Given the description of an element on the screen output the (x, y) to click on. 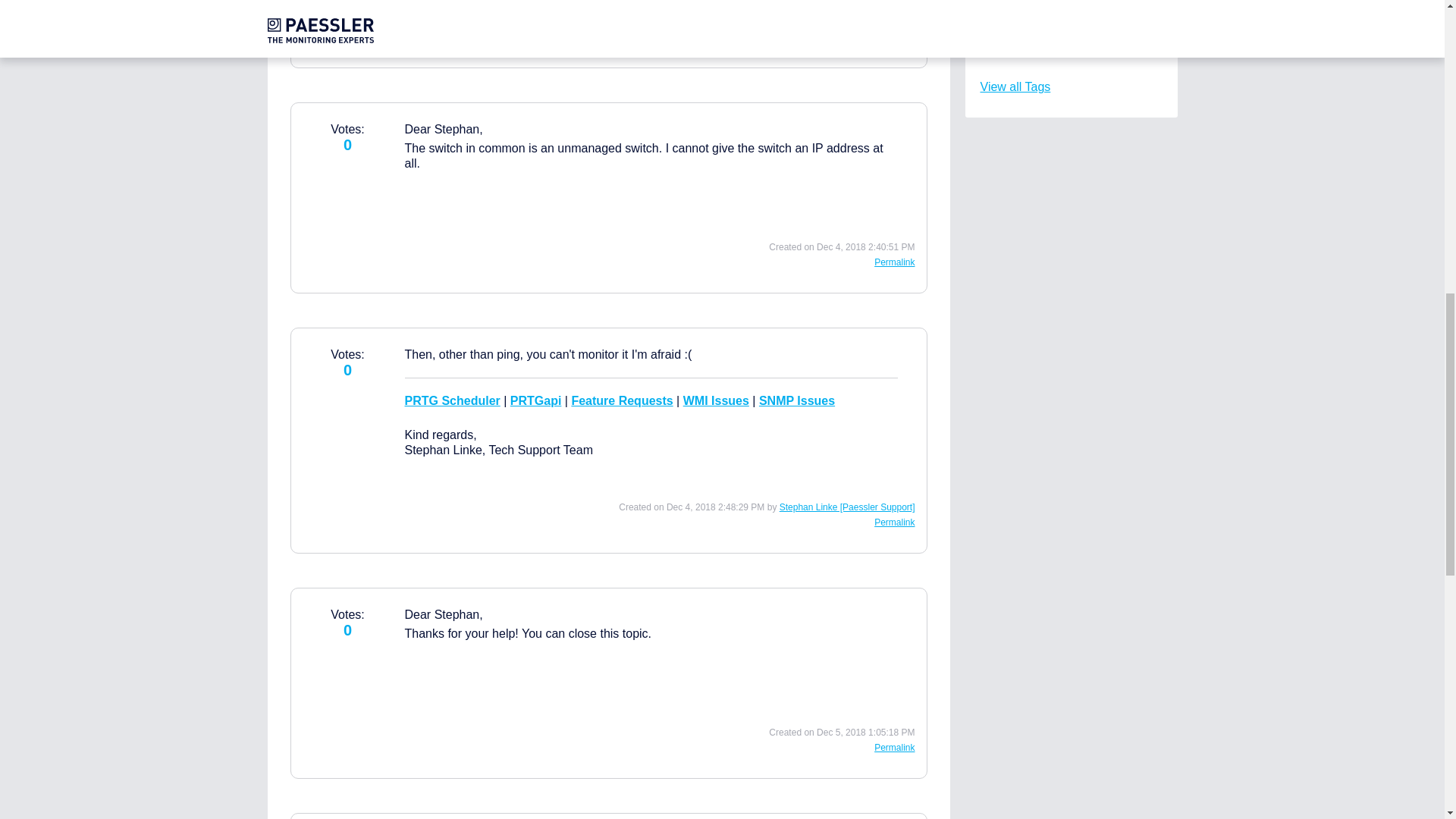
notifications (1055, 18)
SNMP Issues (796, 400)
Permalink to this reply (894, 747)
Permalink to this reply (894, 36)
maps (1038, 45)
Feature Requests (621, 400)
wmi (1034, 0)
Permalink to this reply (894, 262)
Permalink to this reply (894, 521)
Profile of this user (846, 507)
